Given the description of an element on the screen output the (x, y) to click on. 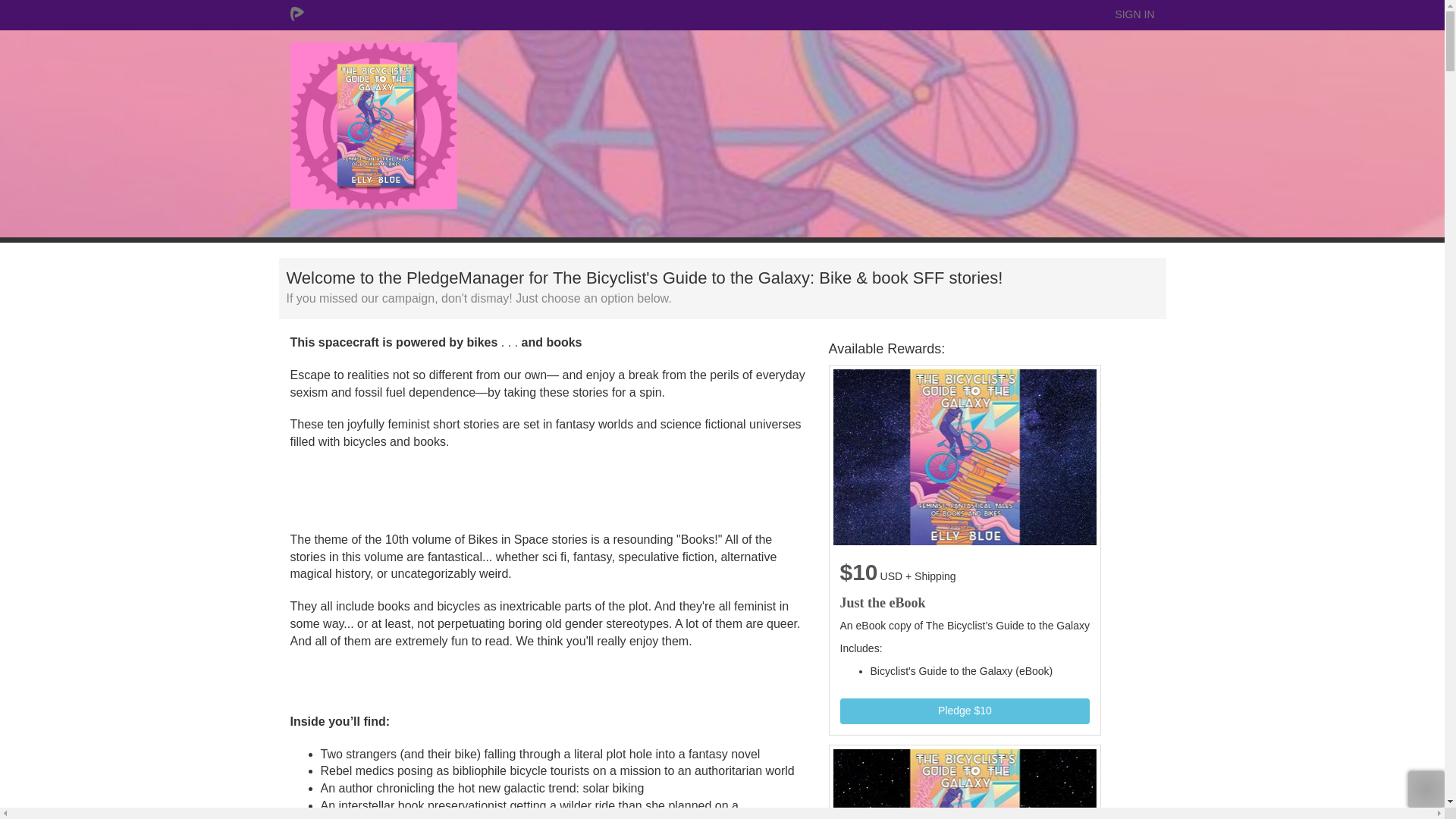
SIGN IN (1134, 14)
